Given the description of an element on the screen output the (x, y) to click on. 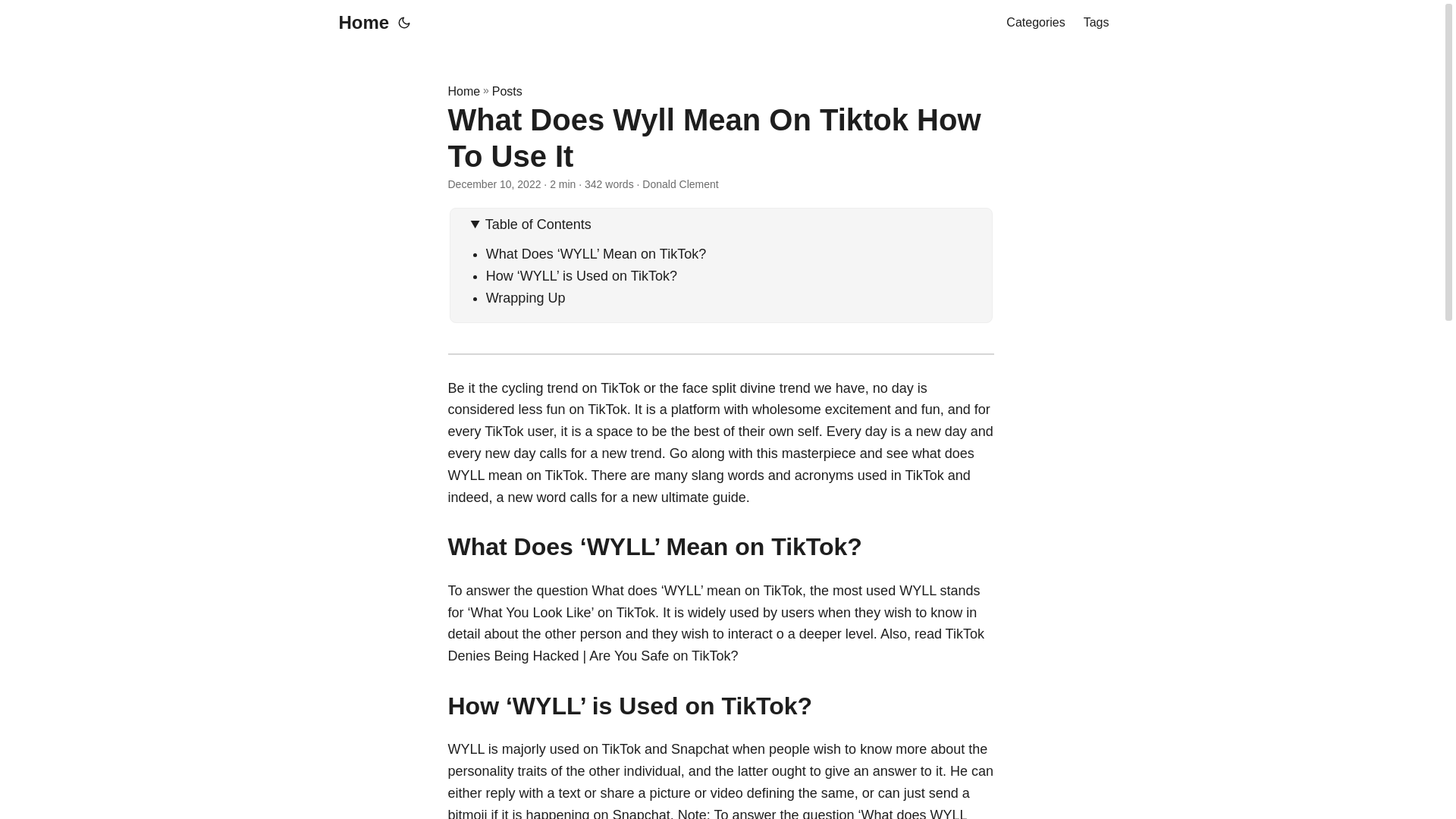
Posts (507, 91)
Home (359, 22)
Categories (1035, 22)
Categories (1035, 22)
Home (463, 91)
Wrapping Up (526, 297)
